Given the description of an element on the screen output the (x, y) to click on. 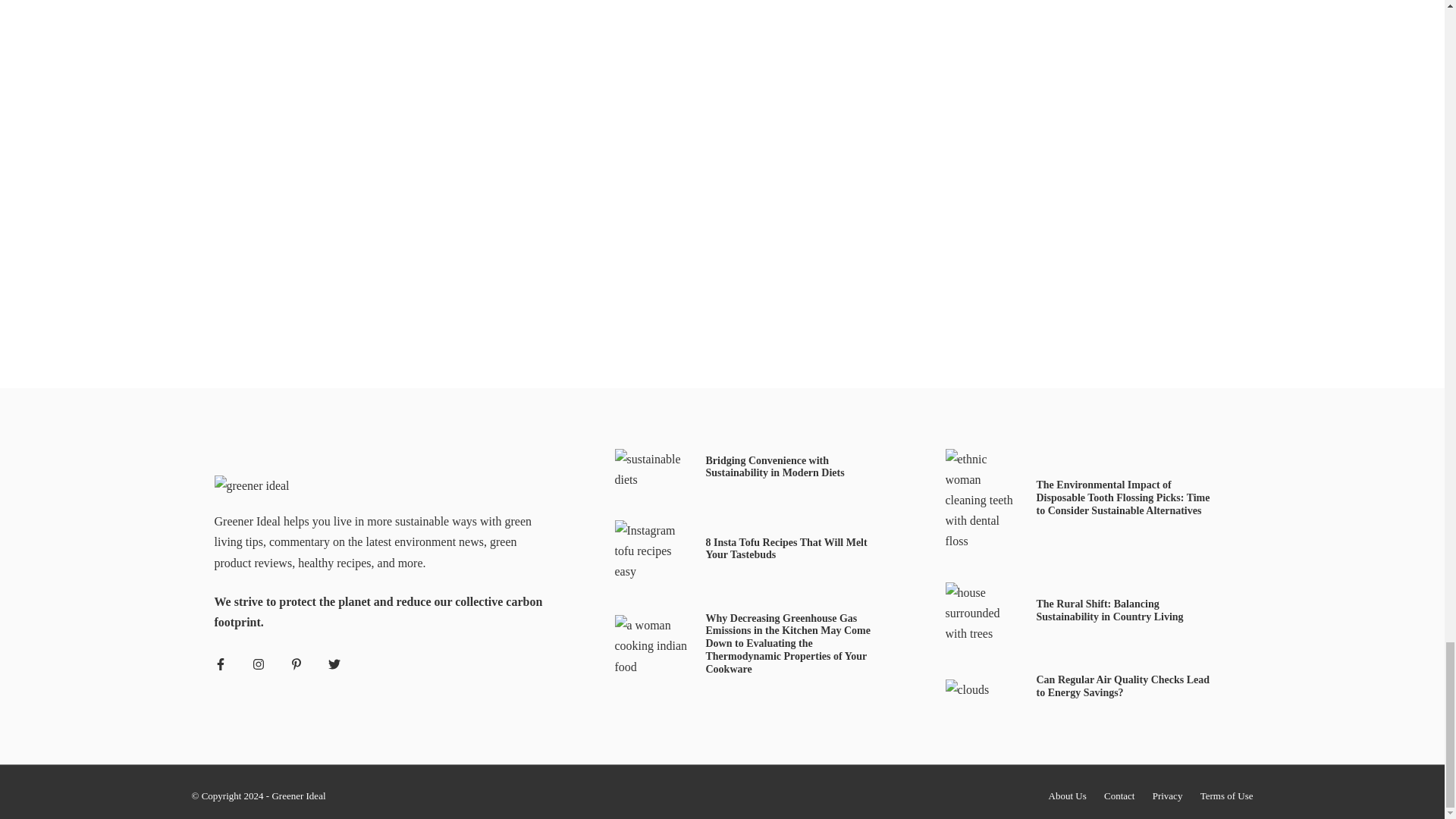
greener ideal logo (251, 485)
